Given the description of an element on the screen output the (x, y) to click on. 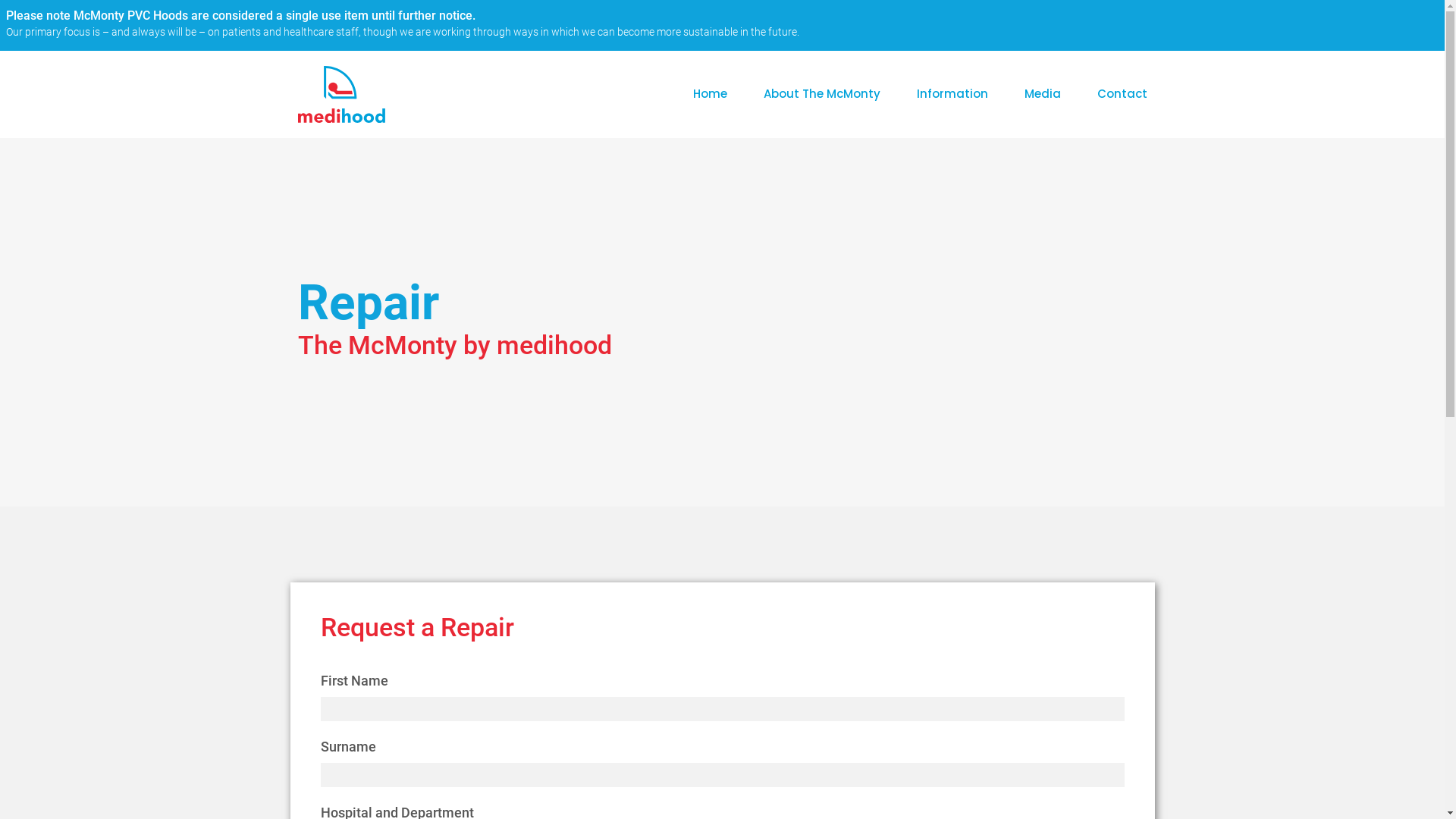
Information Element type: text (951, 94)
Home Element type: text (709, 94)
About The McMonty Element type: text (821, 94)
Contact Element type: text (1121, 94)
Media Element type: text (1041, 94)
